Given the description of an element on the screen output the (x, y) to click on. 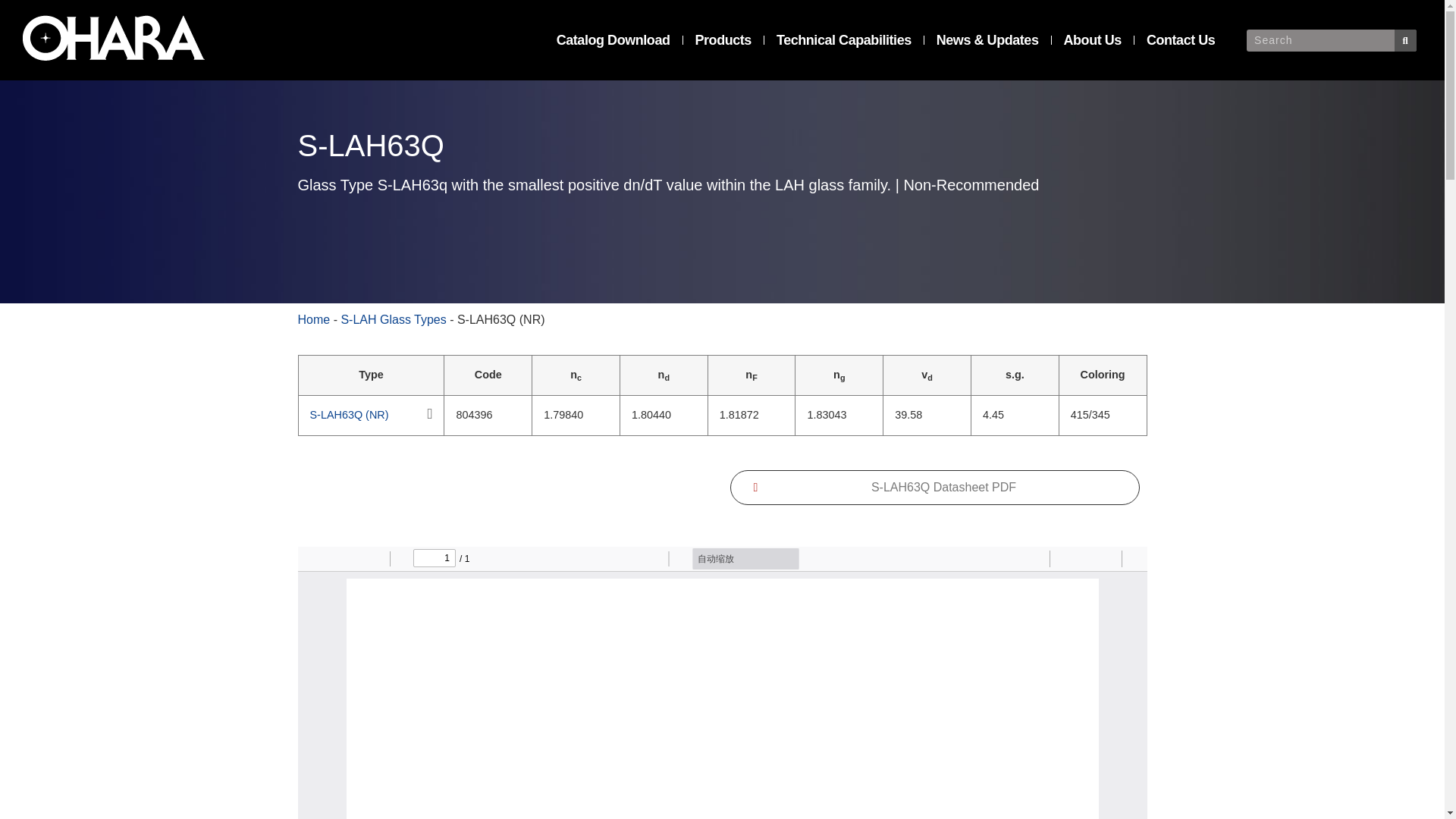
About Us (1092, 39)
S-LAH63Q Datasheet PDF (934, 487)
S-LAH Glass Types (392, 318)
Home (313, 318)
Technical Capabilities (844, 39)
S-LAH33Q (722, 487)
Catalog Download (613, 39)
Contact Us (1181, 39)
Products (723, 39)
